Given the description of an element on the screen output the (x, y) to click on. 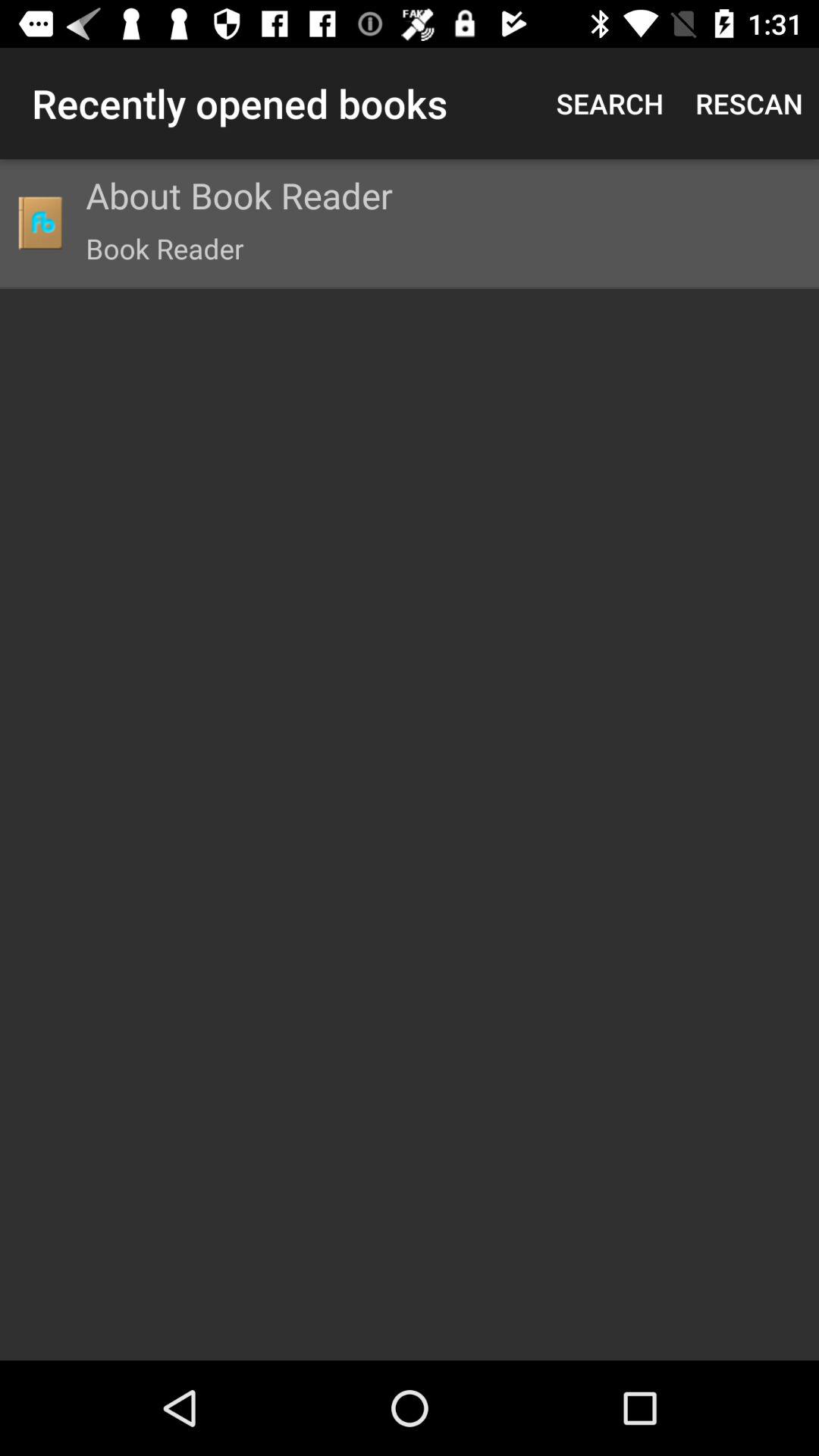
tap the rescan (749, 103)
